Given the description of an element on the screen output the (x, y) to click on. 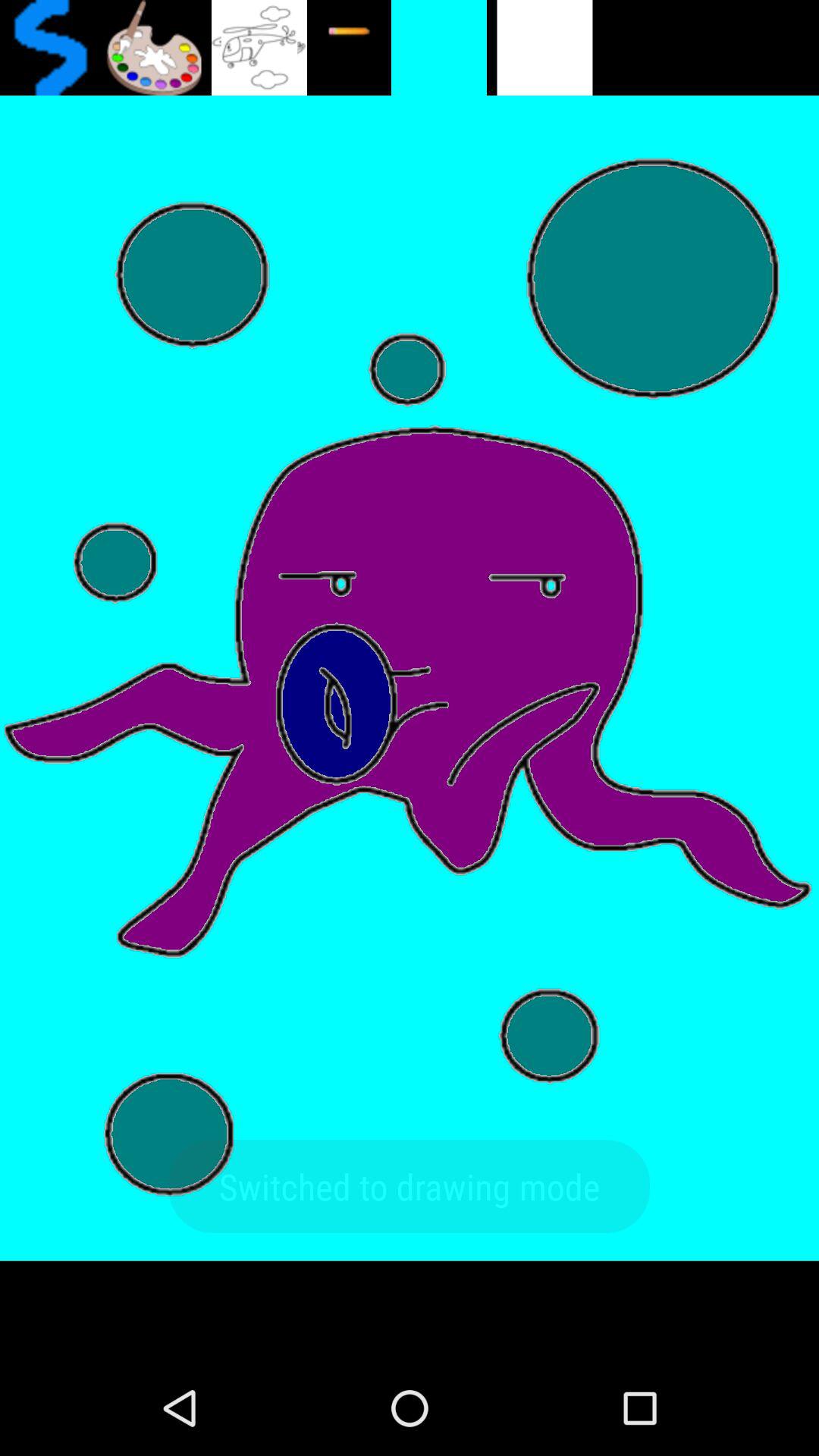
coloring button (153, 47)
